Given the description of an element on the screen output the (x, y) to click on. 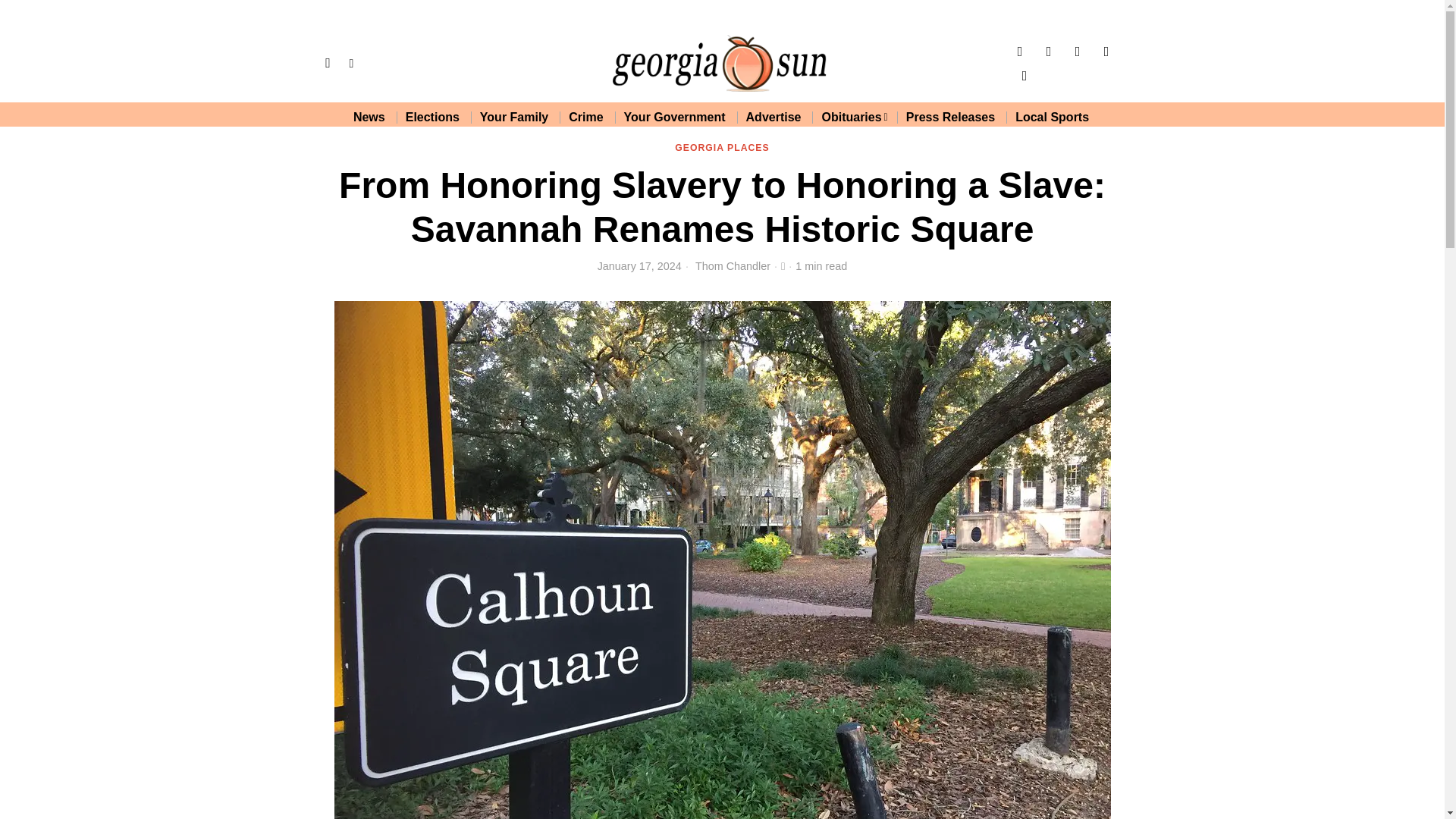
Obituaries (854, 117)
Local Sports (1053, 117)
Elections (433, 117)
News (369, 117)
GEORGIA PLACES (721, 148)
Thom Chandler (732, 265)
Press Releases (951, 117)
Your Government (675, 117)
Your Family (514, 117)
Advertise (774, 117)
